Given the description of an element on the screen output the (x, y) to click on. 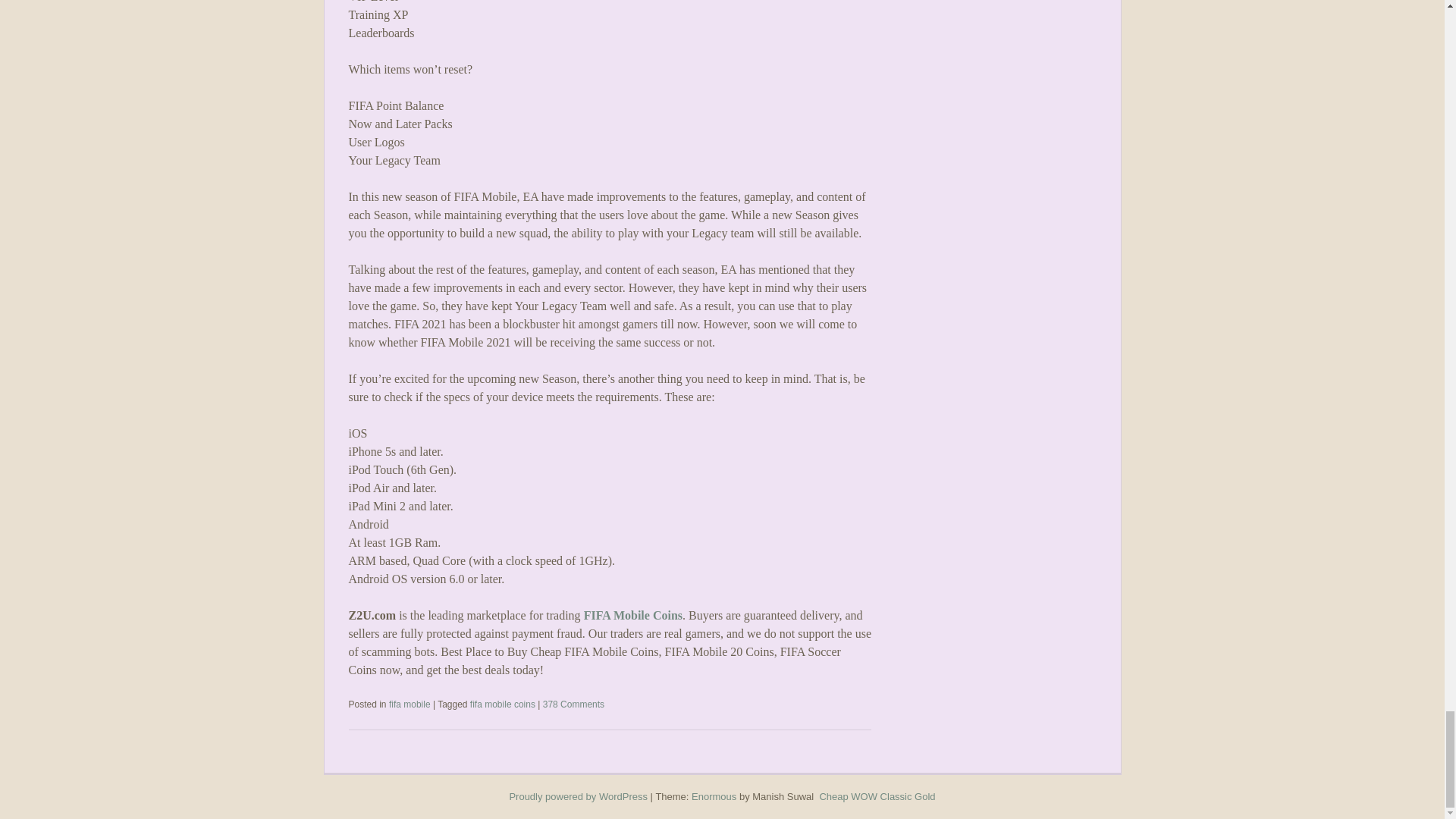
fifa mobile (409, 704)
FIFA Mobile Coins (632, 615)
A Semantic Personal Publishing Platform (577, 796)
378 Comments (573, 704)
fifa mobile coins (502, 704)
